Given the description of an element on the screen output the (x, y) to click on. 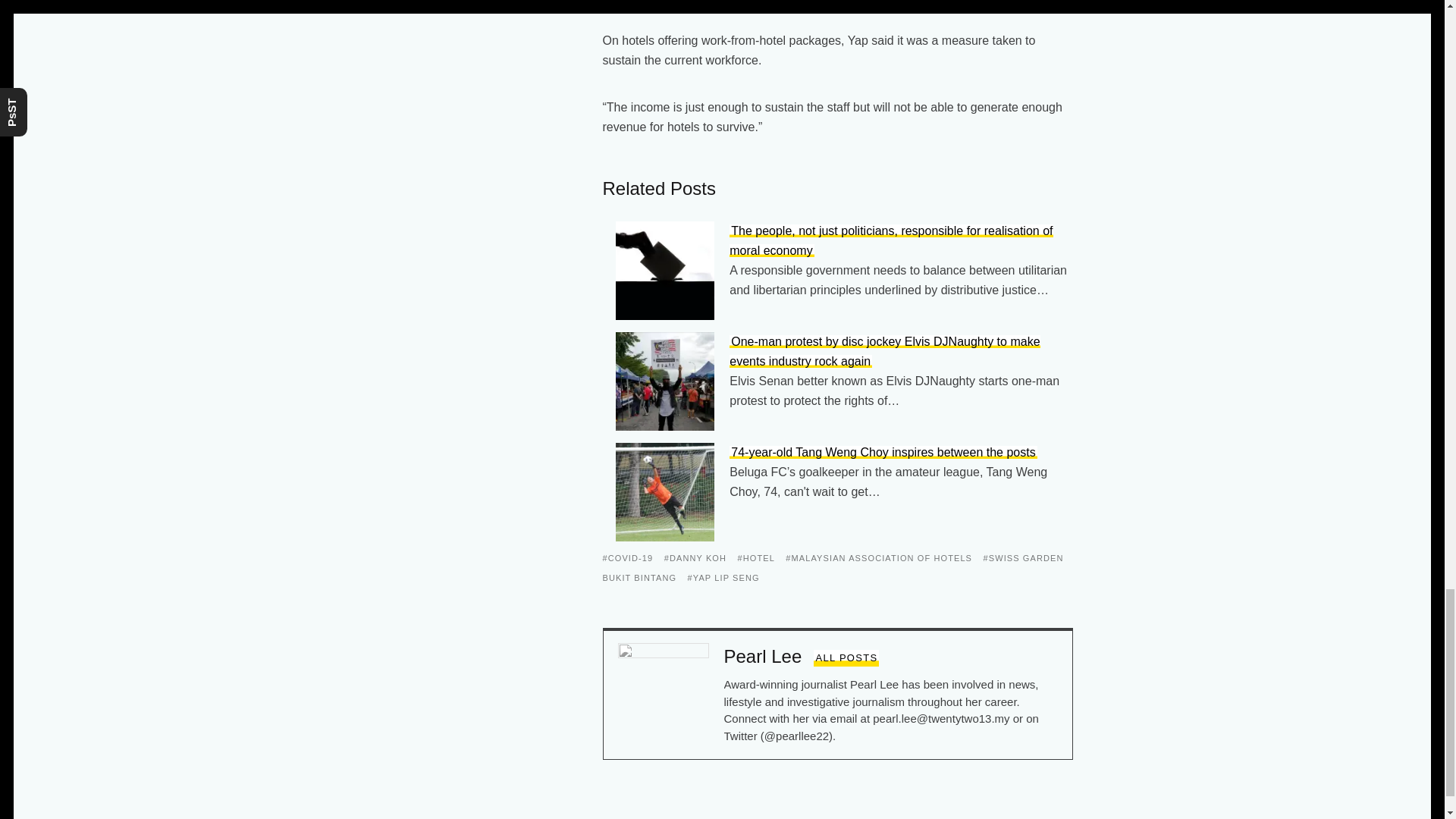
COVID-19 (627, 557)
HOTEL (755, 557)
View all posts by Pearl Lee (846, 658)
SWISS GARDEN BUKIT BINTANG (832, 567)
DANNY KOH (694, 557)
ALL POSTS (846, 658)
MALAYSIAN ASSOCIATION OF HOTELS (879, 557)
YAP LIP SENG (723, 577)
74-year-old Tang Weng Choy inspires between the posts (882, 451)
